Given the description of an element on the screen output the (x, y) to click on. 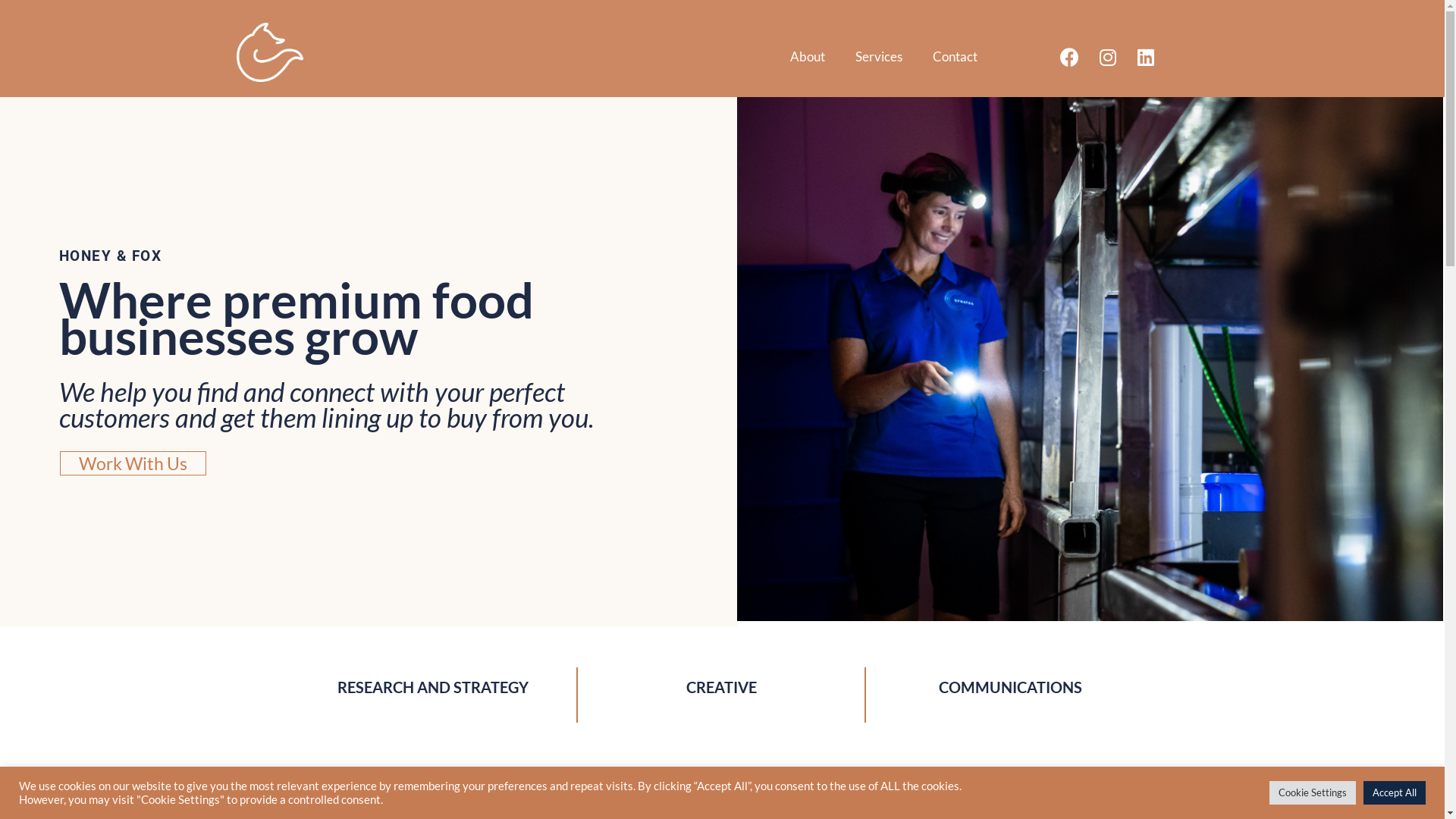
About Element type: text (807, 56)
Work With Us Element type: text (132, 463)
Accept All Element type: text (1394, 792)
Contact Element type: text (954, 56)
Services Element type: text (878, 56)
Cookie Settings Element type: text (1312, 792)
